Given the description of an element on the screen output the (x, y) to click on. 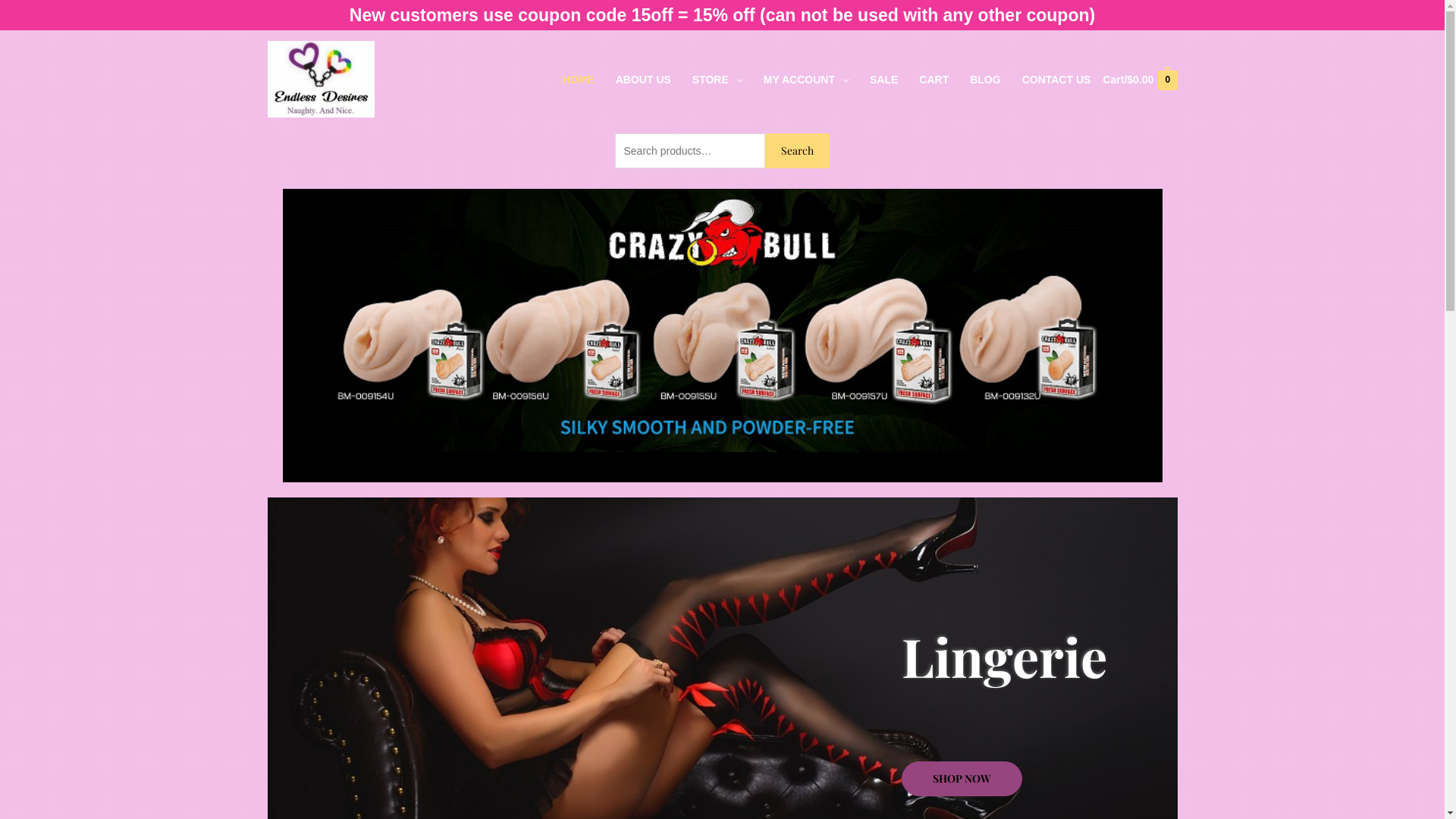
MY ACCOUNT Element type: text (806, 78)
CONTACT US Element type: text (1056, 78)
BLOG Element type: text (984, 78)
SALE Element type: text (883, 78)
HOME Element type: text (578, 78)
STORE Element type: text (717, 78)
SHOP NOW Element type: text (960, 778)
CART Element type: text (933, 78)
Crazy Bull Element type: hover (736, 335)
Search Element type: text (797, 150)
ABOUT US Element type: text (643, 78)
Cart/$0.00 0 Element type: text (1138, 78)
